Given the description of an element on the screen output the (x, y) to click on. 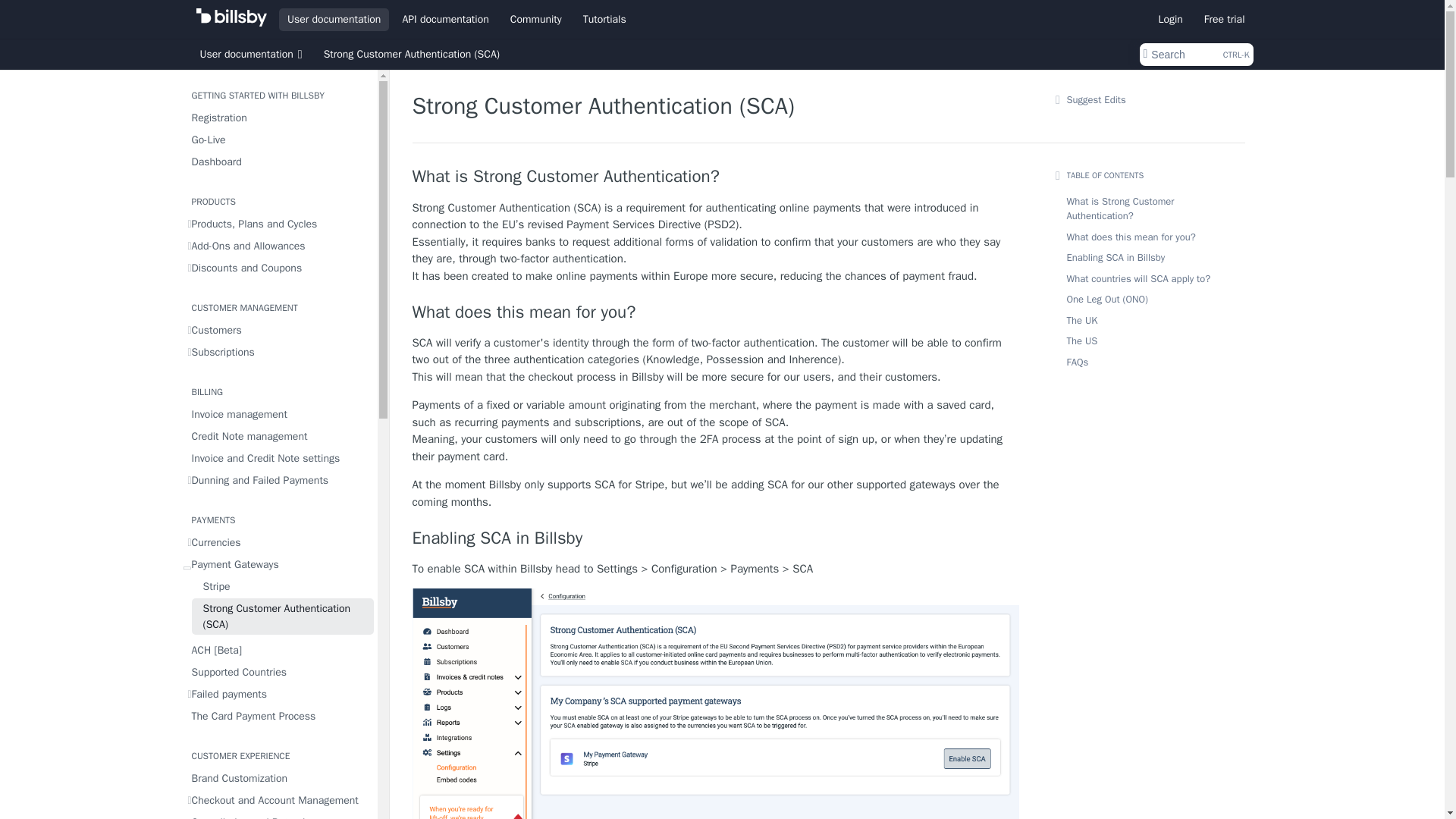
Add-Ons and Allowances (277, 245)
What is Strong Customer Authentication? (715, 176)
API documentation (444, 18)
Go-Live (277, 139)
What does this mean for you? (715, 312)
Community (536, 18)
Dashboard (277, 161)
Products, Plans and Cycles (277, 223)
Login (1170, 18)
Tutortials (604, 18)
